Given the description of an element on the screen output the (x, y) to click on. 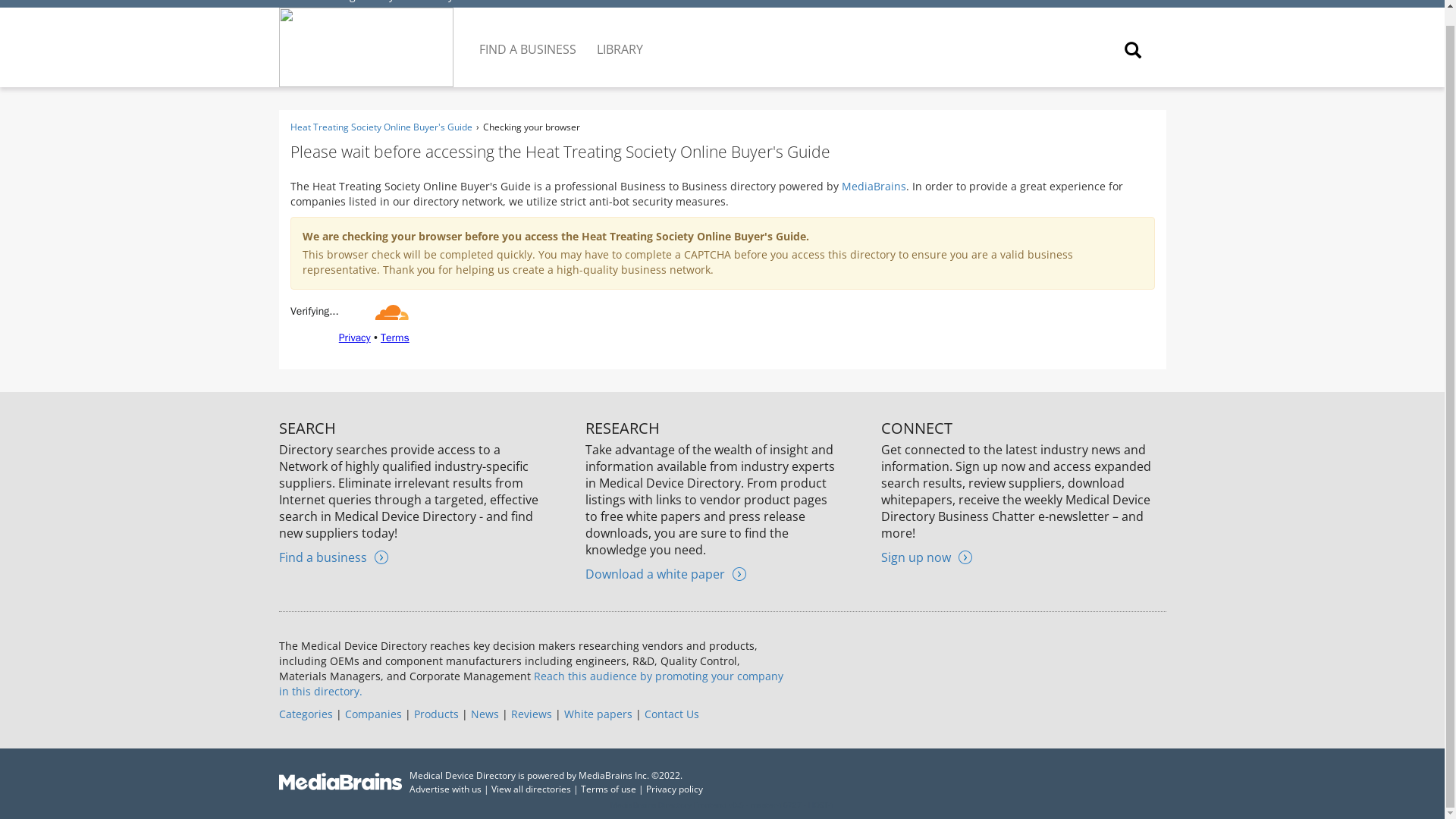
Categories (306, 713)
LIBRARY (620, 37)
Heat Treating Society Online Buyer's Guide (395, 1)
Heat Treating Society Online Buyer's Guide (380, 126)
Sign up now (926, 556)
Contact Us (671, 713)
Download a white paper (665, 573)
MediaBrains (873, 186)
Terms of use (608, 788)
Privacy policy (674, 788)
News (483, 713)
Companies (372, 713)
View all directories (531, 788)
Products (435, 713)
